Given the description of an element on the screen output the (x, y) to click on. 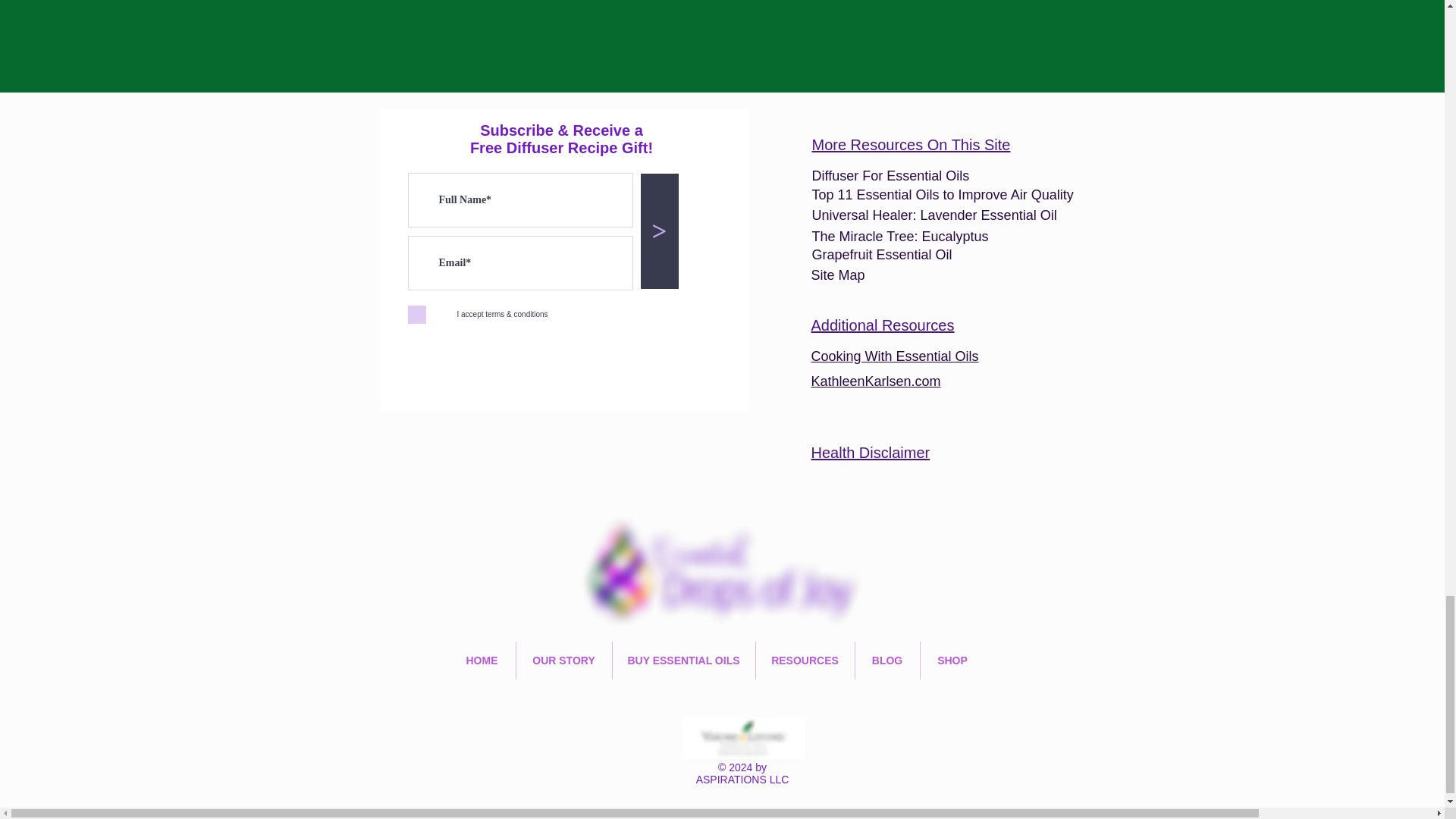
Top 11 Essential Oils to Improve Air Quality (941, 194)
BUY ESSENTIAL OILS (683, 660)
OUR STORY (563, 660)
Cooking With Essential Oils (894, 355)
Health Disclaimer (870, 452)
HOME (481, 660)
Diffuser For Essential Oils (889, 175)
Site Map (837, 274)
Universal Healer: Lavender Essential Oil (933, 215)
KathleenKarlsen.com (875, 381)
SHOP (952, 660)
RESOURCES (804, 660)
The Miracle Tree: Eucalyptus  (900, 236)
BLOG (888, 660)
Grapefruit Essential Oil (881, 254)
